Given the description of an element on the screen output the (x, y) to click on. 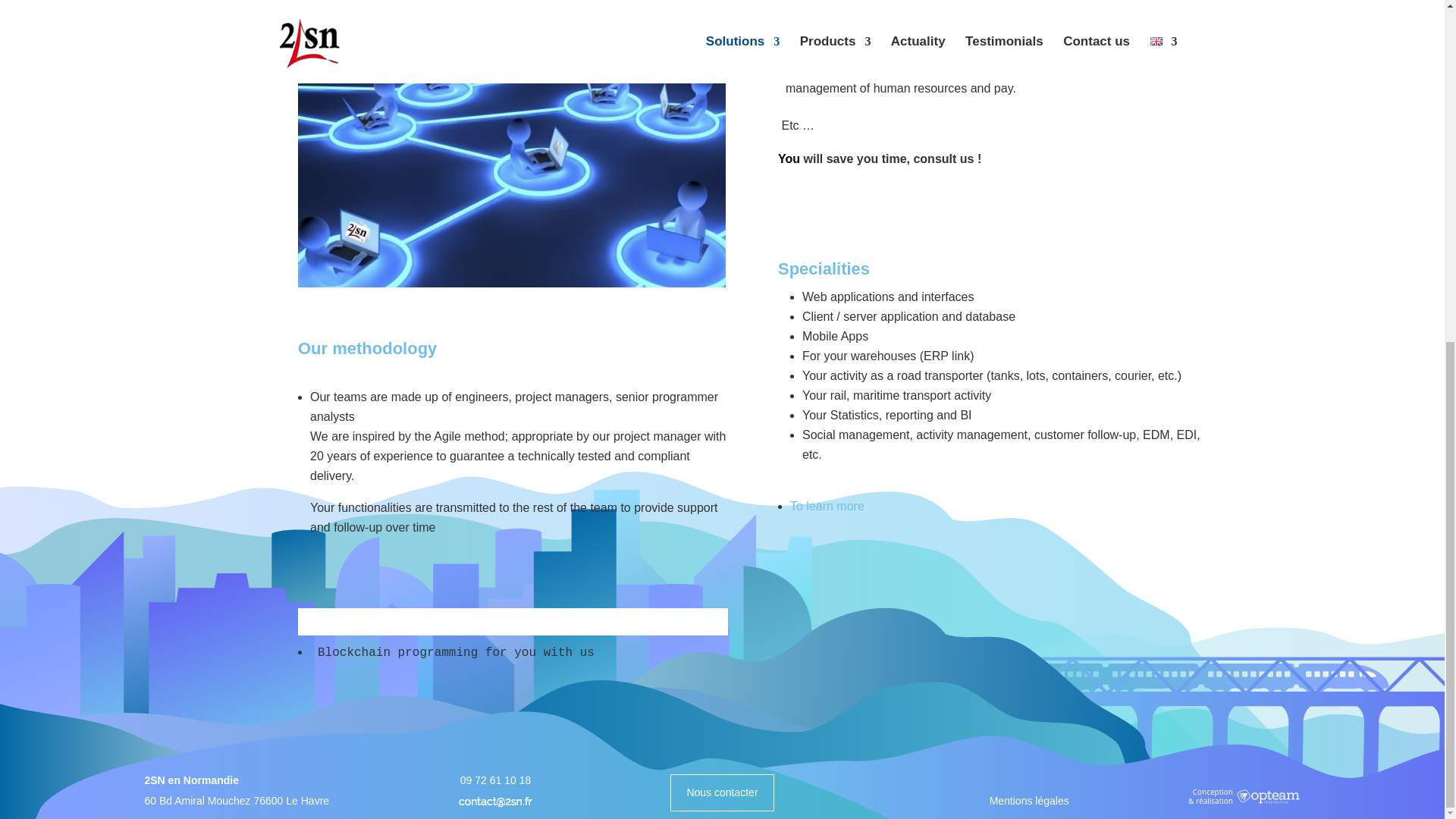
To learn more (827, 505)
Nous contacter (721, 792)
blockchain2sn (511, 143)
